Given the description of an element on the screen output the (x, y) to click on. 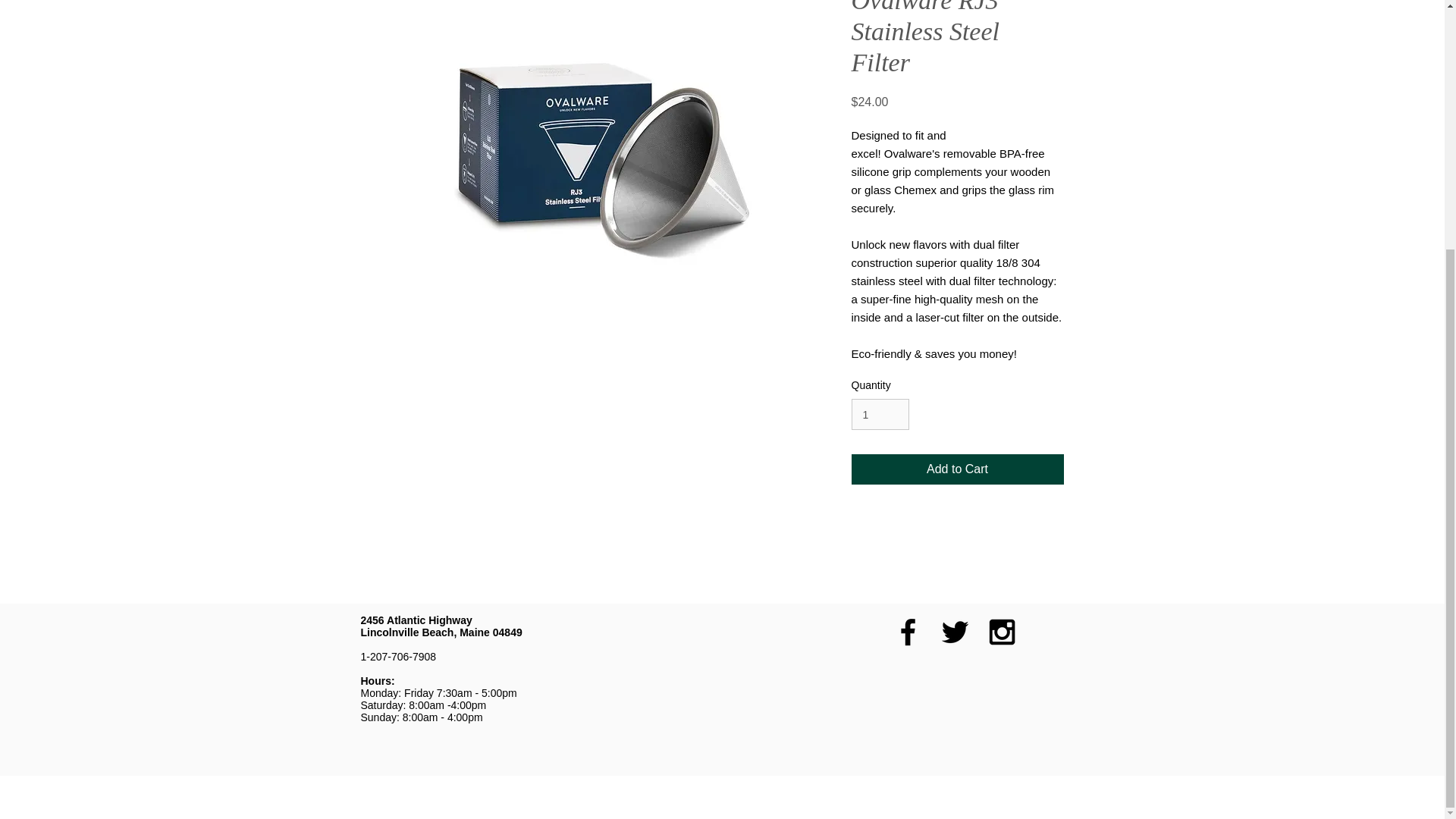
1 (879, 413)
Add to Cart (956, 469)
